Given the description of an element on the screen output the (x, y) to click on. 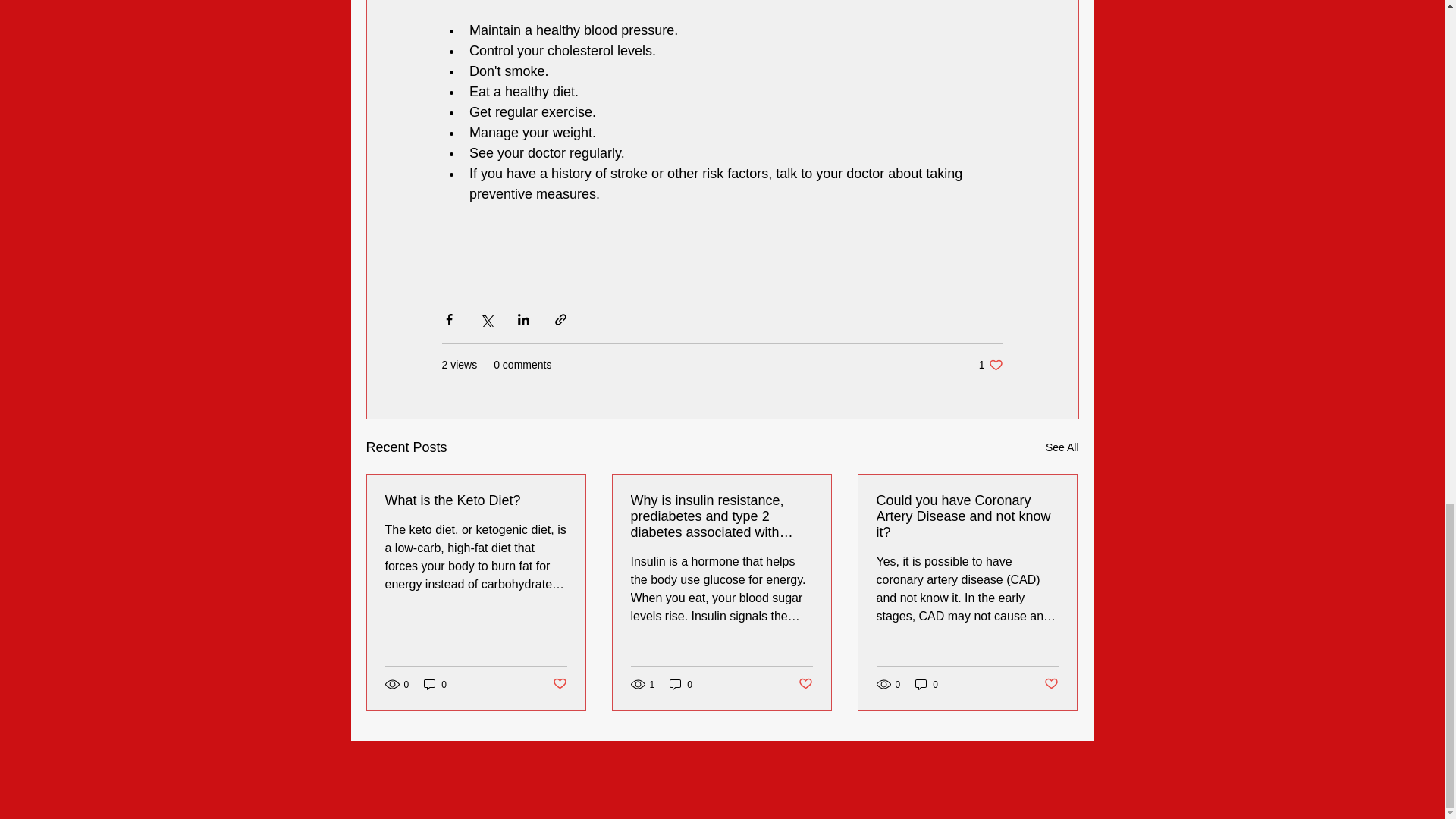
Could you have Coronary Artery Disease and not know it? (990, 364)
0 (967, 515)
What is the Keto Diet? (926, 684)
0 (476, 499)
Post not marked as liked (435, 684)
Post not marked as liked (1050, 684)
0 (804, 684)
Post not marked as liked (681, 684)
See All (558, 684)
